Given the description of an element on the screen output the (x, y) to click on. 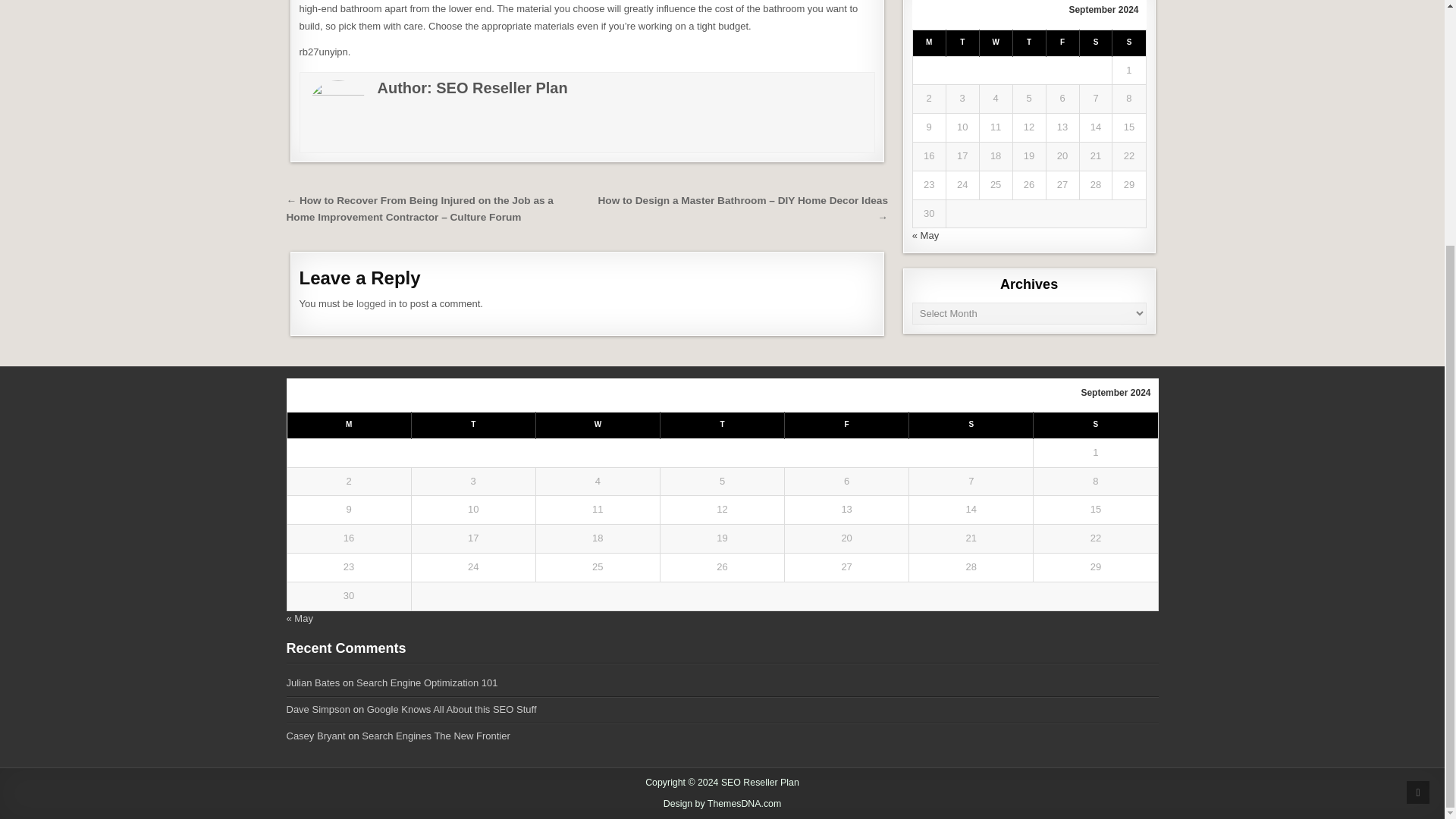
Monday (928, 42)
Dave Simpson (318, 708)
Friday (1061, 42)
Thursday (1028, 42)
Saturday (1095, 42)
SCROLL TO TOP (1417, 449)
Google Knows All About this SEO Stuff (451, 708)
Design by ThemesDNA.com (722, 803)
Tuesday (961, 42)
Wednesday (994, 42)
